Given the description of an element on the screen output the (x, y) to click on. 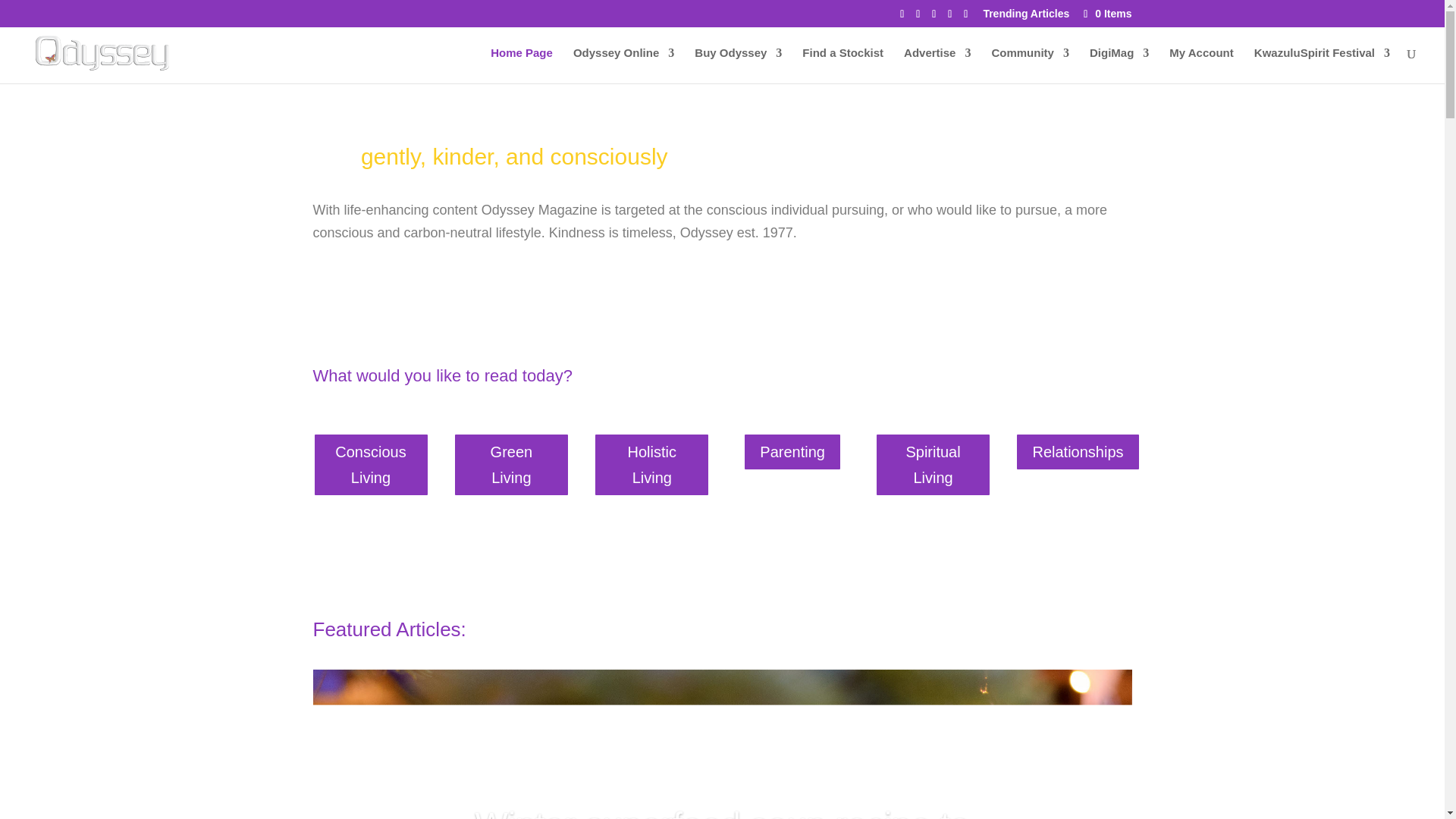
Trending Articles (1025, 16)
Home Page (521, 65)
DigiMag (1118, 65)
Find a Stockist (842, 65)
0 Items (1105, 13)
Buy Odyssey (737, 65)
Community (1029, 65)
Advertise (937, 65)
Odyssey Online (623, 65)
